Given the description of an element on the screen output the (x, y) to click on. 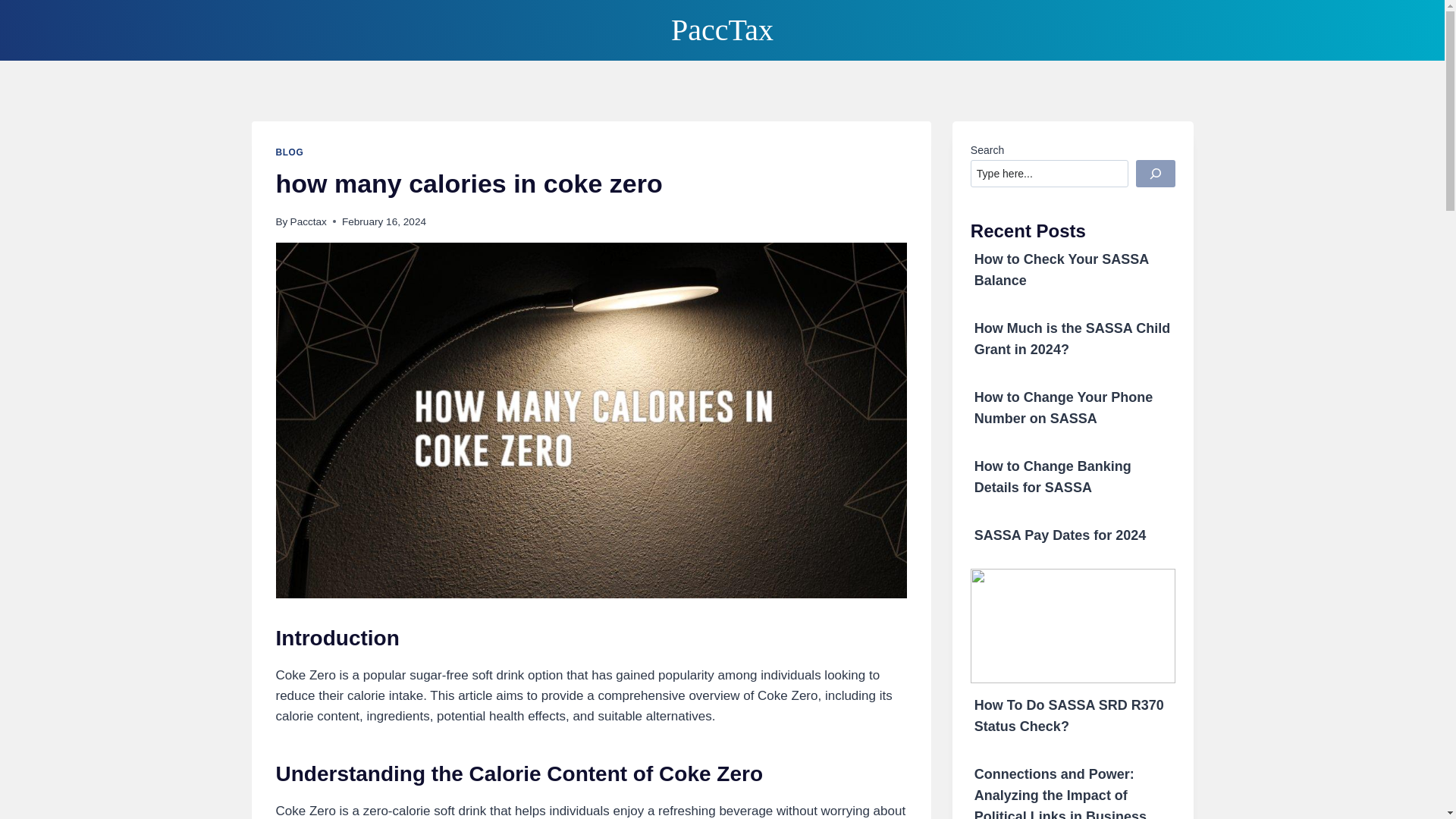
Pacctax (307, 221)
BLOG (290, 152)
PaccTax (722, 30)
